Given the description of an element on the screen output the (x, y) to click on. 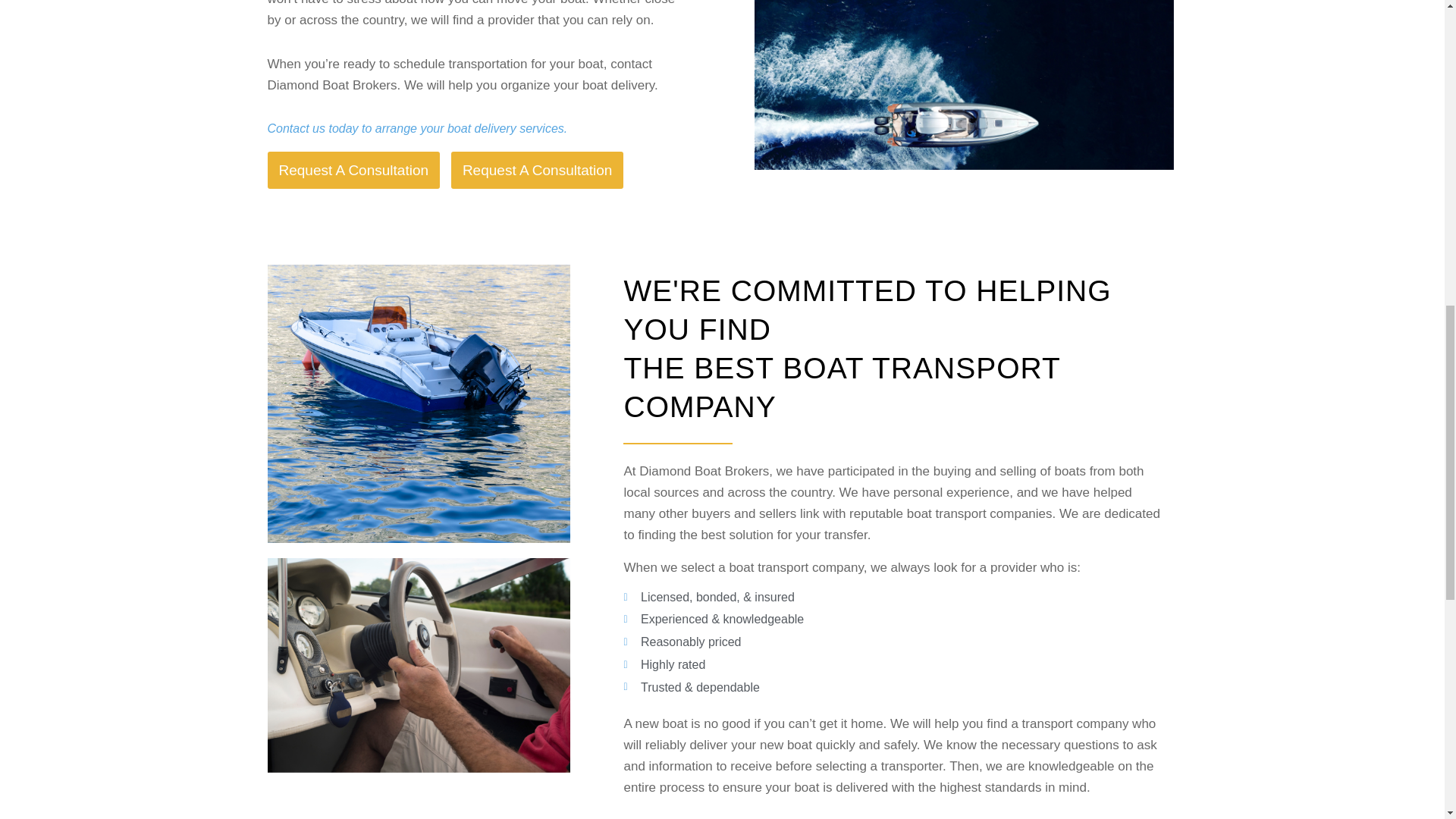
Request A Consultation (352, 170)
Request A Consultation (537, 170)
